Given the description of an element on the screen output the (x, y) to click on. 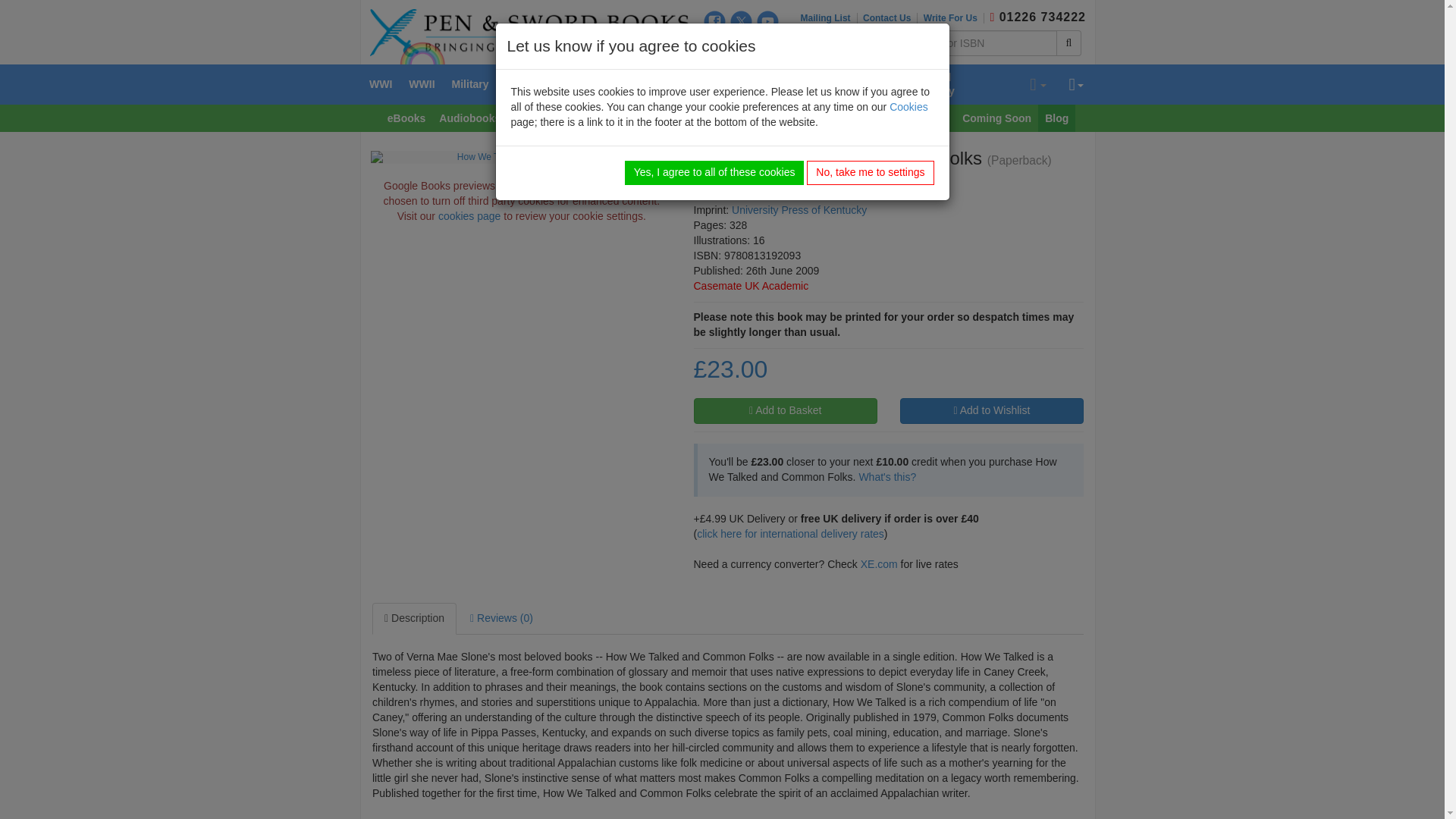
TikTok (741, 45)
Mailing List (828, 18)
NetGalley (767, 45)
Your basket is empty (1037, 84)
Facebook (714, 21)
Write For Us (953, 18)
YouTube (767, 21)
Contact Us (890, 18)
Instagram (714, 45)
X (741, 21)
